Given the description of an element on the screen output the (x, y) to click on. 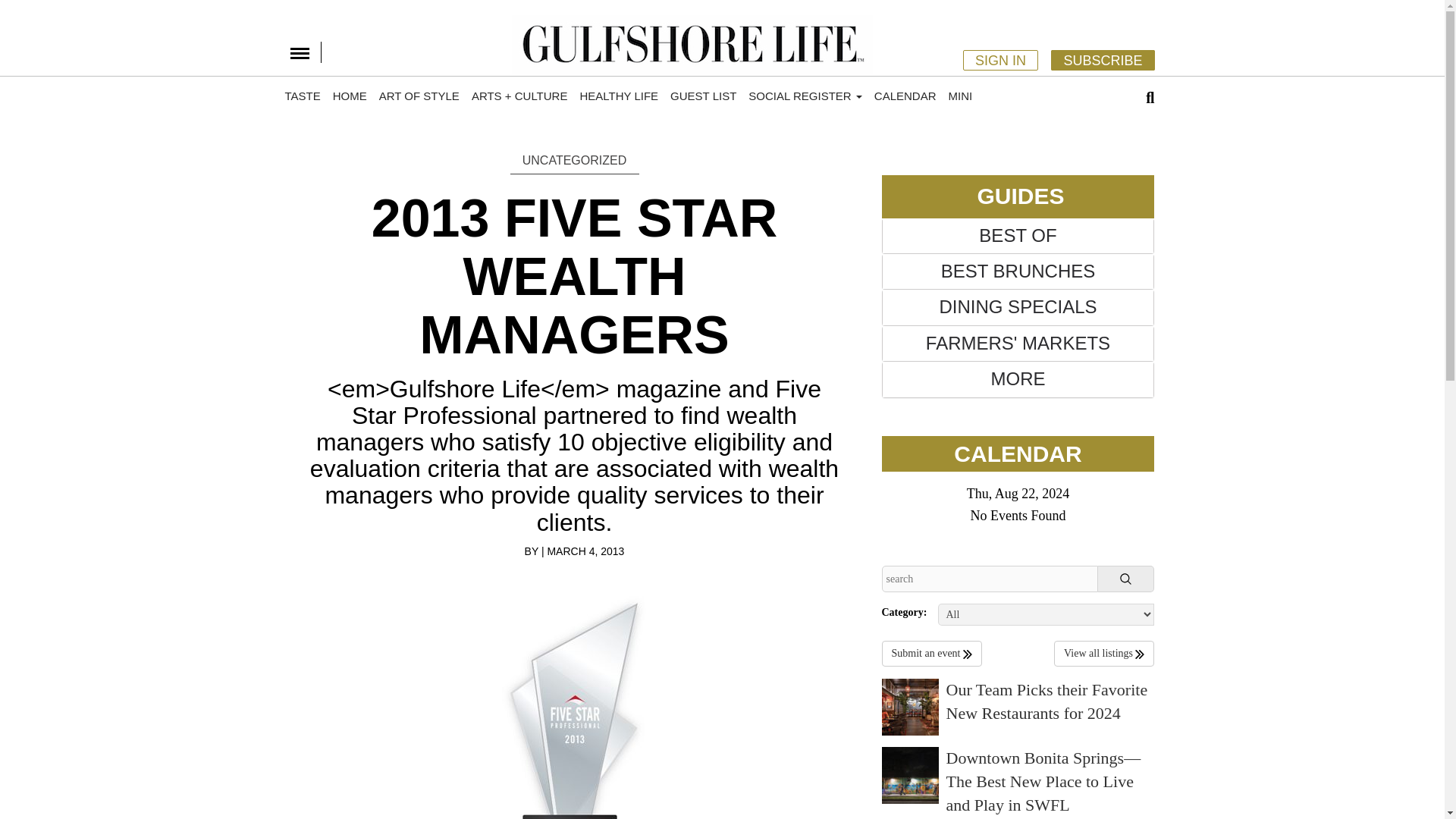
ART OF STYLE (418, 96)
HEALTHY LIFE (618, 96)
SUBSCRIBE (1102, 59)
GUEST LIST (702, 96)
DINING SPECIALS (1018, 306)
MINI (960, 96)
UNCATEGORIZED (574, 160)
FARMERS' MARKETS (1018, 343)
CALENDAR (904, 96)
SOCIAL REGISTER (804, 96)
